Given the description of an element on the screen output the (x, y) to click on. 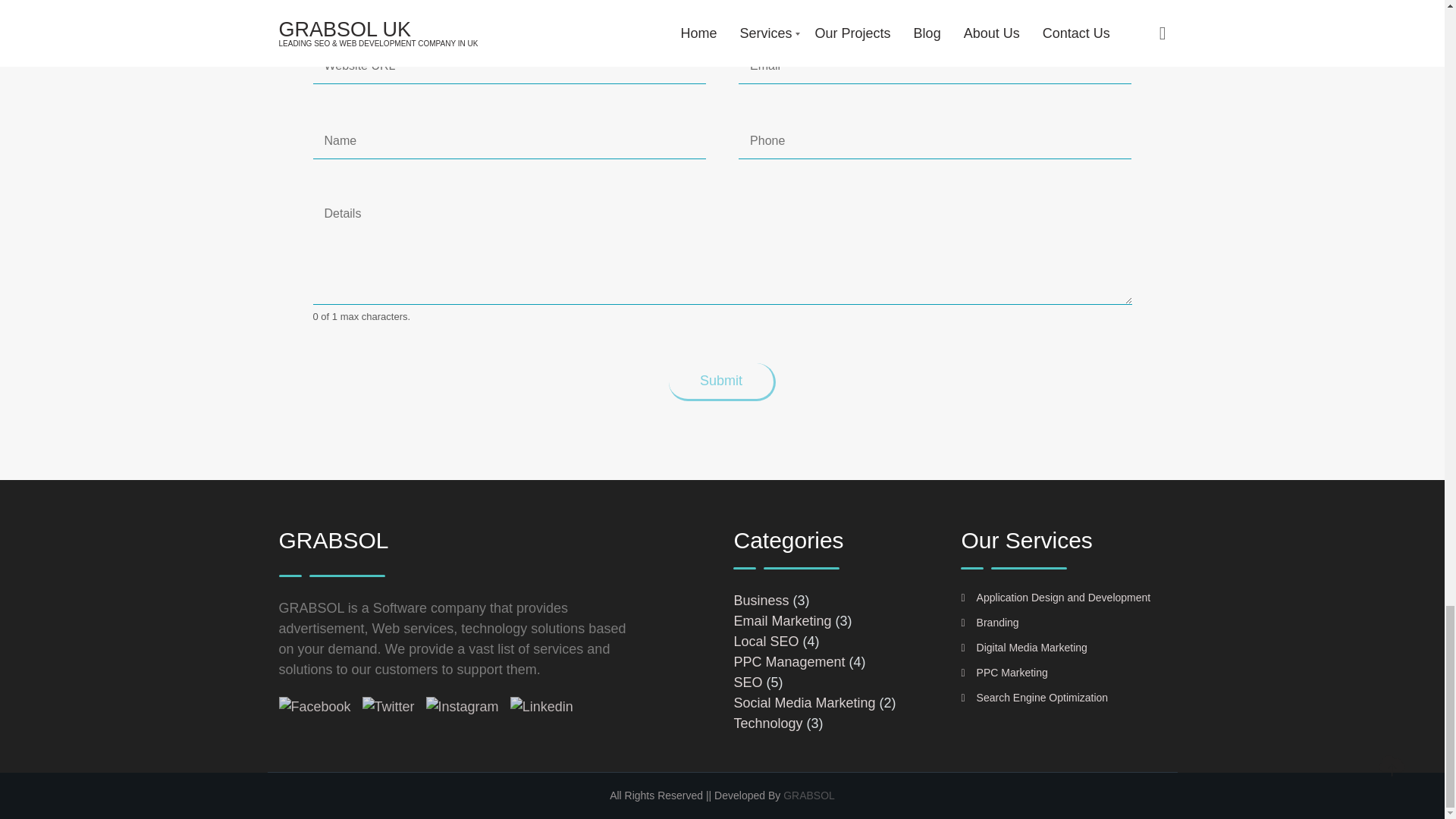
Email Marketing (782, 620)
Business (761, 600)
Application Design and Development (1055, 597)
Social Media Marketing (804, 702)
Local SEO (765, 641)
Submit (722, 382)
PPC Marketing (1003, 672)
Digital Media Marketing (1023, 647)
Technology (767, 723)
SEO (747, 682)
GRABSOL (808, 795)
PPC Management (788, 661)
Search Engine Optimization (1034, 697)
Branding (988, 622)
